Given the description of an element on the screen output the (x, y) to click on. 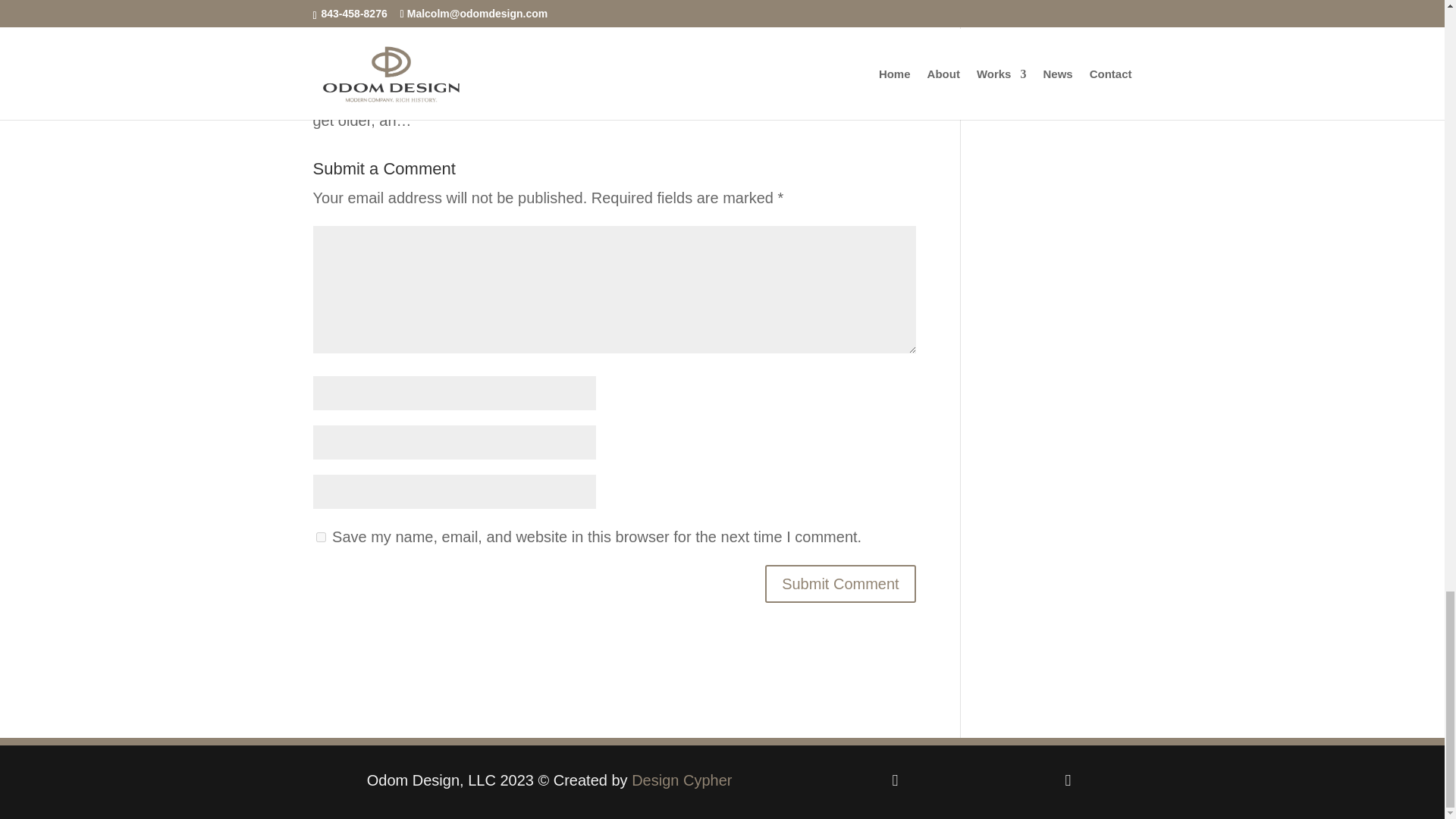
Submit Comment (840, 583)
yes (319, 537)
Submit Comment (840, 583)
